Given the description of an element on the screen output the (x, y) to click on. 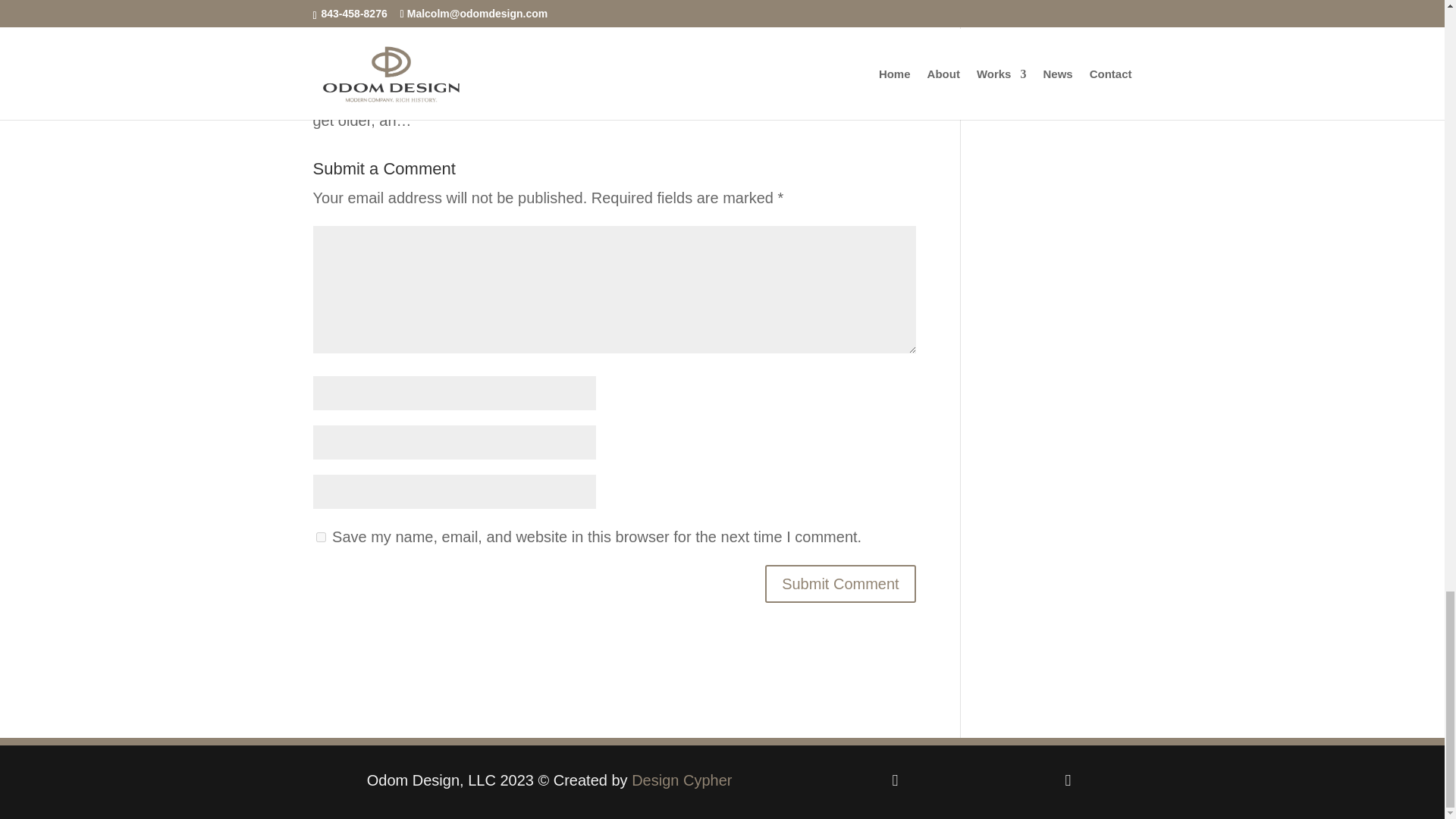
Submit Comment (840, 583)
yes (319, 537)
Submit Comment (840, 583)
